Given the description of an element on the screen output the (x, y) to click on. 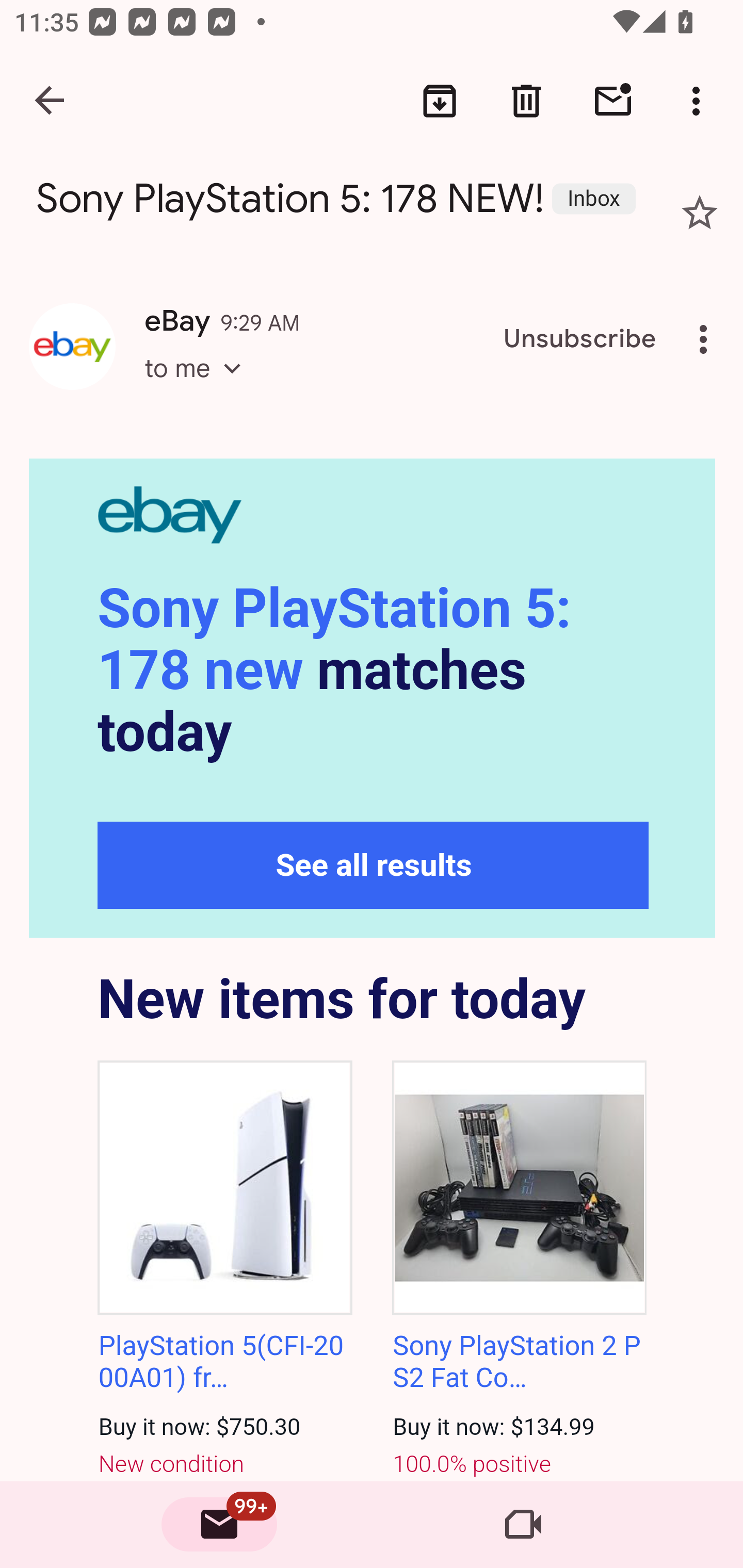
Navigate up (50, 101)
ebay Navigate up ebay Clear search text (371, 108)
Archive (439, 101)
Delete (525, 101)
Mark unread (612, 101)
More options (699, 101)
Add star (699, 212)
Unsubscribe (579, 339)
More options (706, 339)
Show contact information for eBay (71, 346)
to me (199, 386)
Meet (523, 1524)
